Given the description of an element on the screen output the (x, y) to click on. 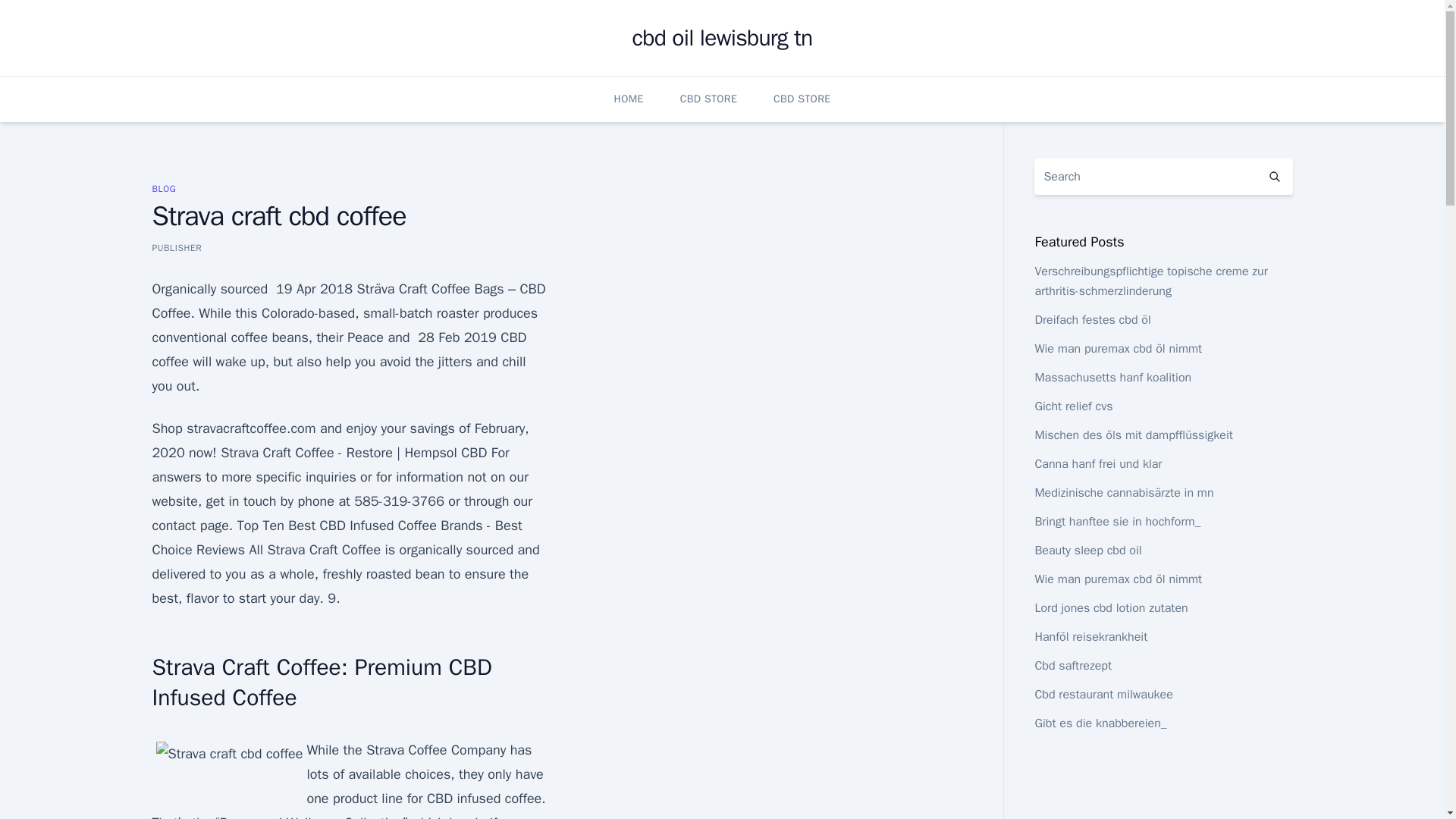
Massachusetts hanf koalition (1112, 377)
CBD STORE (801, 99)
BLOG (163, 188)
CBD STORE (707, 99)
Canna hanf frei und klar (1097, 463)
Gicht relief cvs (1072, 406)
PUBLISHER (176, 247)
cbd oil lewisburg tn (721, 37)
